Given the description of an element on the screen output the (x, y) to click on. 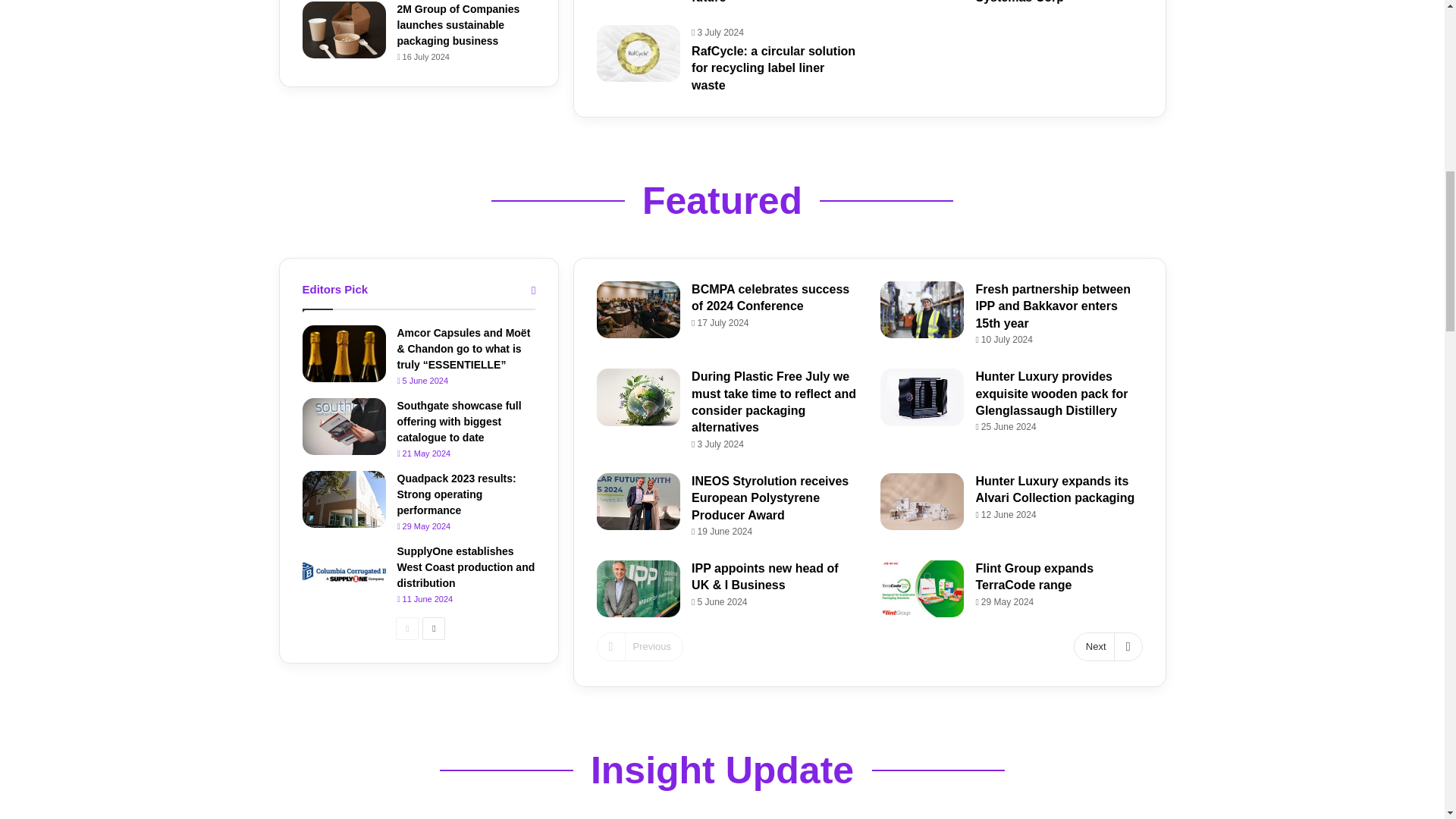
Insight Update  (722, 770)
Featured (722, 200)
